Given the description of an element on the screen output the (x, y) to click on. 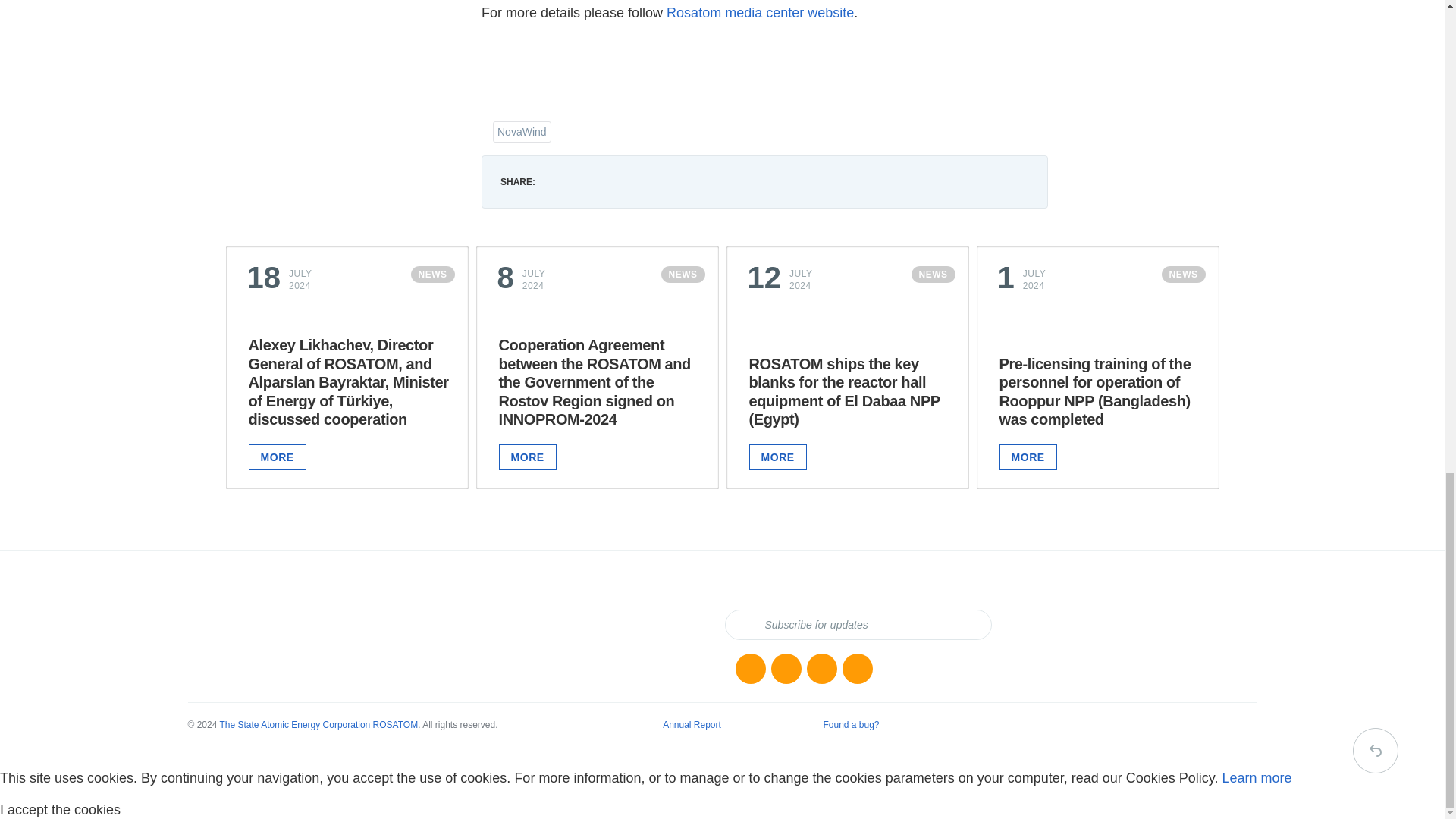
News (750, 668)
Atom: Nuclear Industry in the Media (856, 668)
Learn more (1257, 777)
Nuclear Industry in the Media (785, 668)
Atom: News (821, 668)
